Given the description of an element on the screen output the (x, y) to click on. 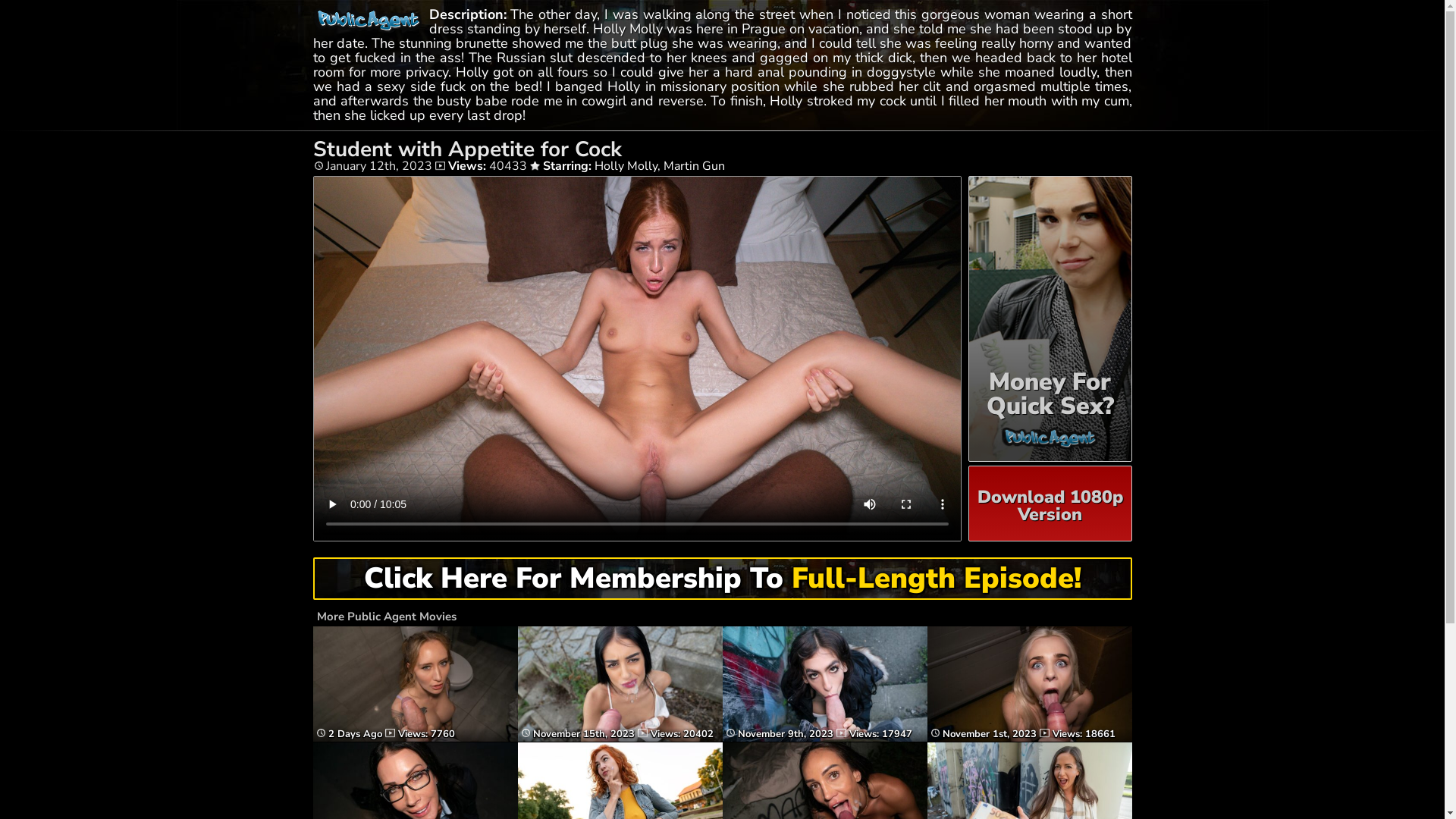
Download 1080p Version Element type: text (1049, 503)
Skinny Russian Bus Stop Pickup Element type: hover (619, 738)
Click Here For Membership To Full-Length Episode! Element type: text (721, 583)
The Big Prague Sausage Element type: hover (1028, 738)
Colombian Outdoor Fucker Element type: hover (823, 738)
Martin Gun Element type: text (693, 165)
Money For Quick Sex? Element type: text (1049, 380)
Holly Molly Element type: text (625, 165)
Click Here For Membership To Full-Length Episode! Element type: text (721, 578)
Fucked in Hotel Toilet Element type: hover (414, 738)
Money For Quick Sex? Element type: text (1049, 318)
